Given the description of an element on the screen output the (x, y) to click on. 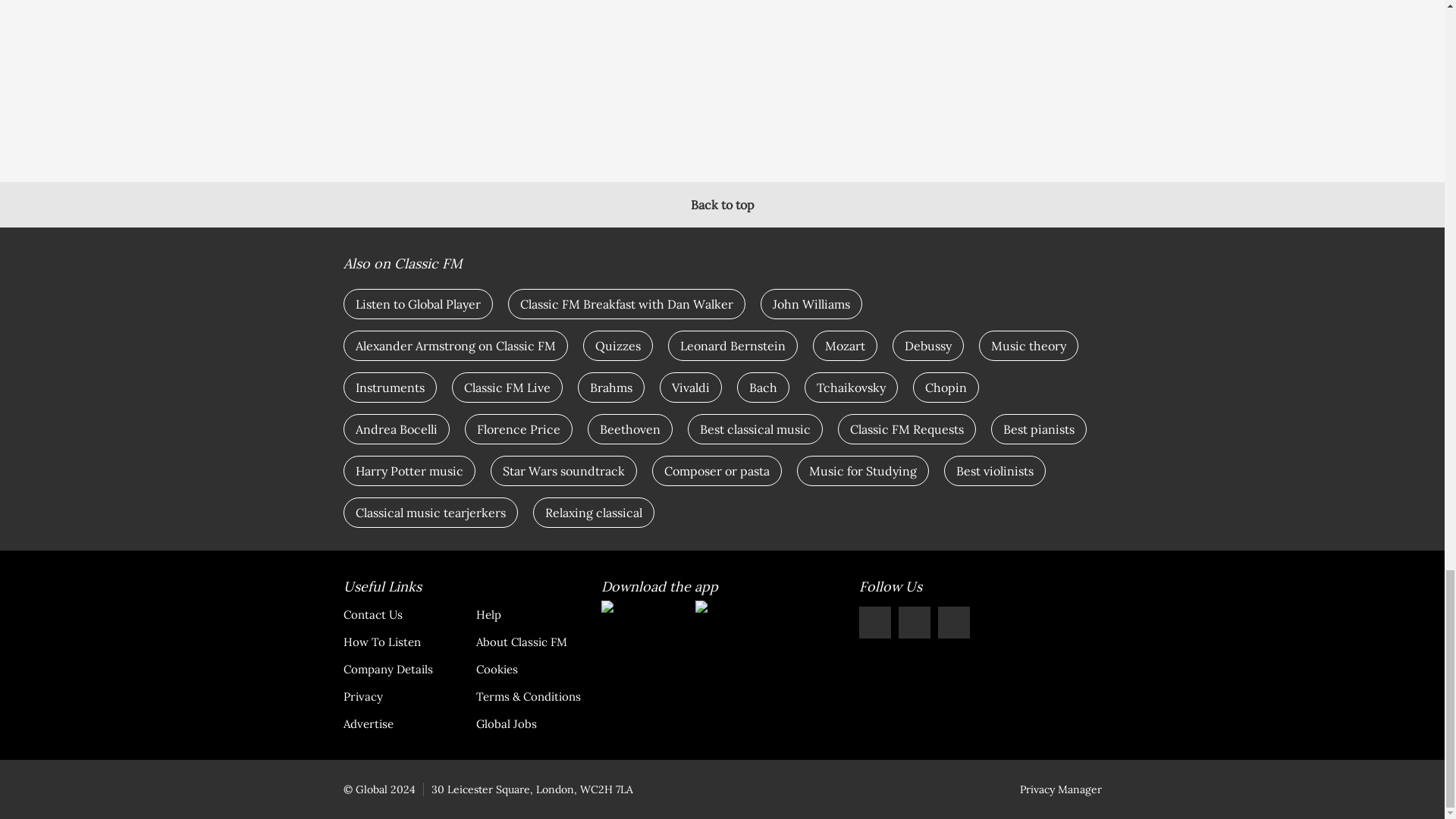
Back to top (722, 204)
Follow Classic FM on Instagram (914, 622)
Follow Classic FM on Youtube (953, 622)
Follow Classic FM on Facebook (874, 622)
